Given the description of an element on the screen output the (x, y) to click on. 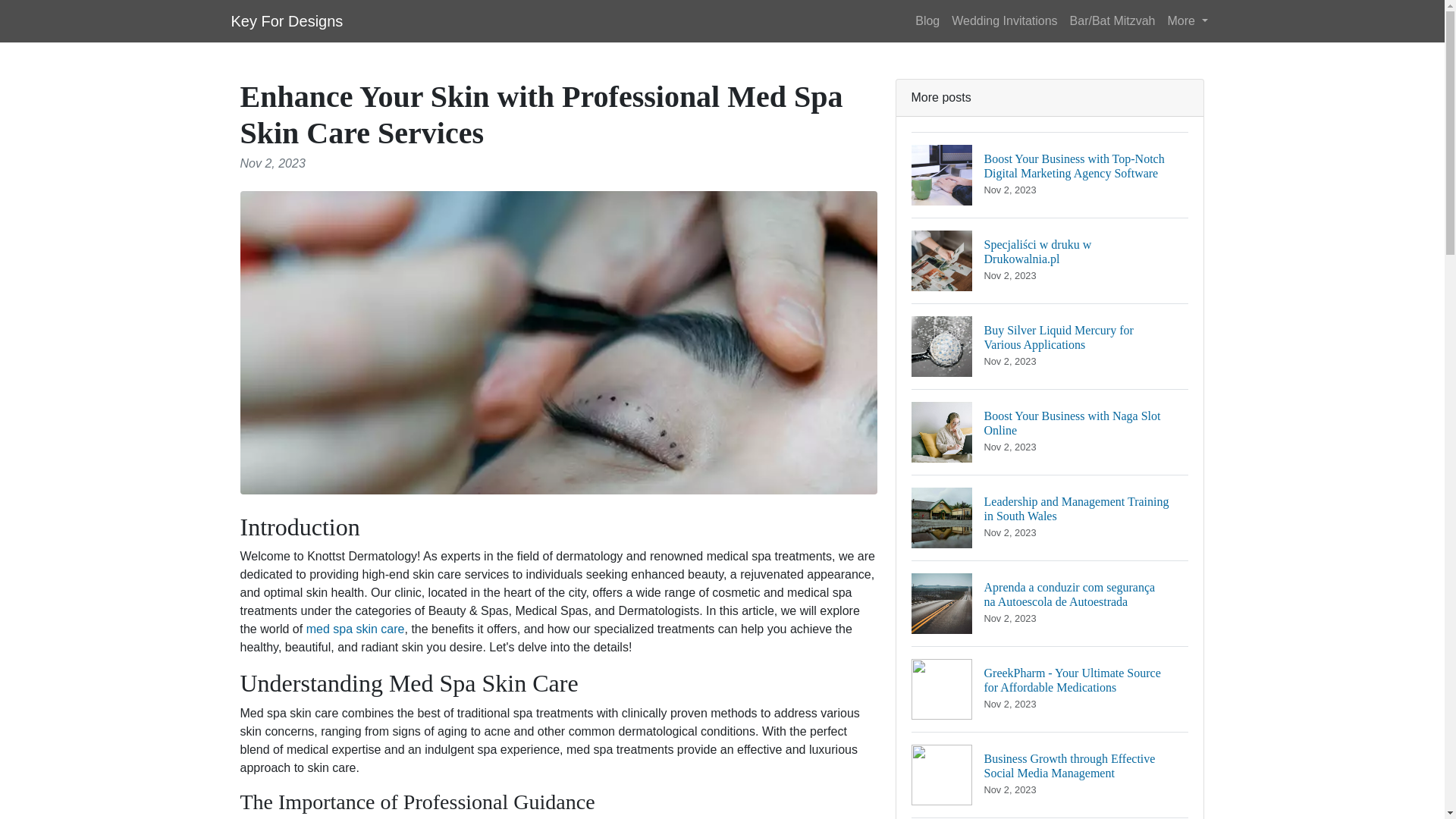
Key For Designs (354, 628)
Wedding Invitations (286, 20)
